Given the description of an element on the screen output the (x, y) to click on. 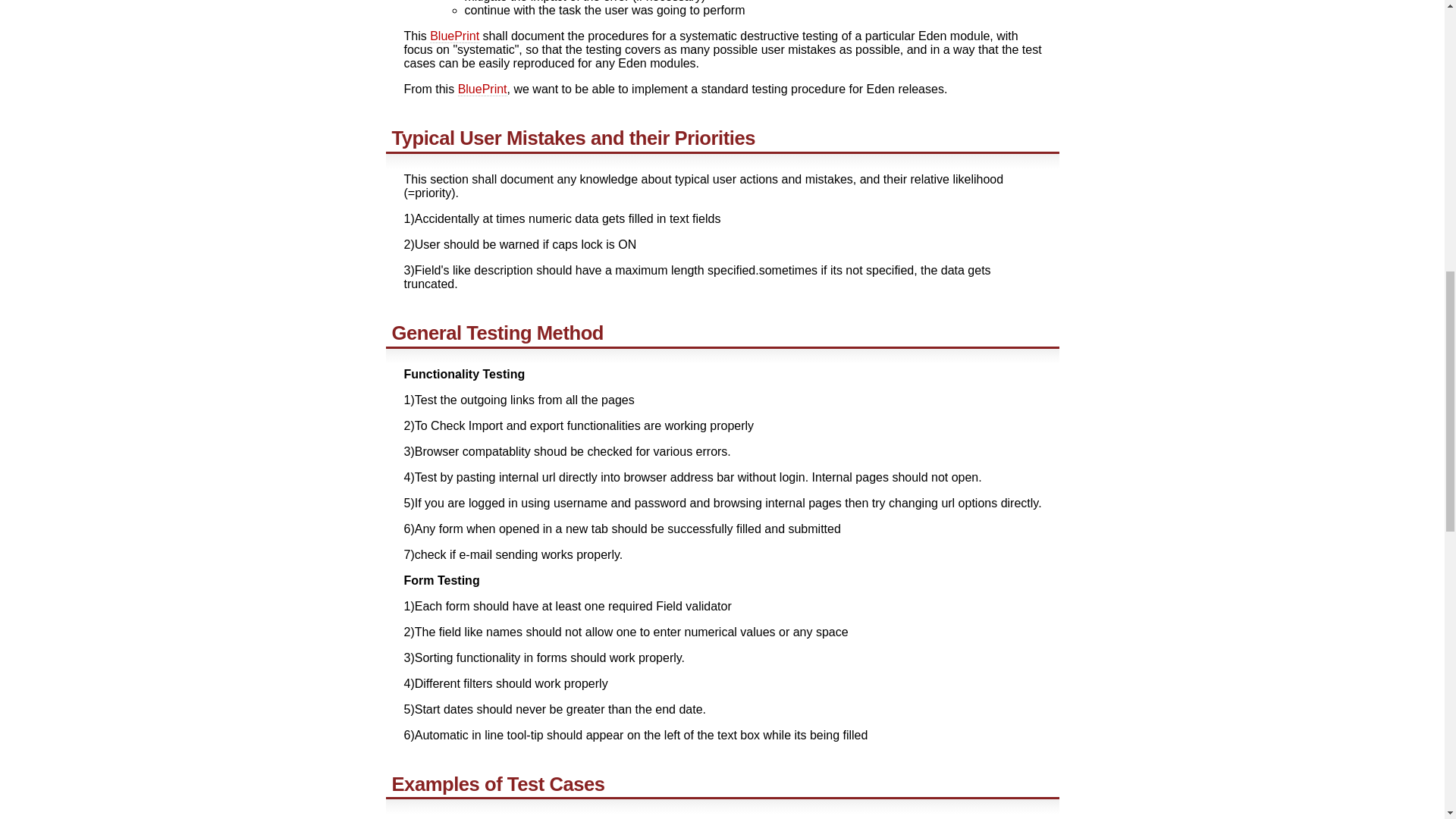
BluePrint (482, 89)
BluePrint (454, 36)
